Given the description of an element on the screen output the (x, y) to click on. 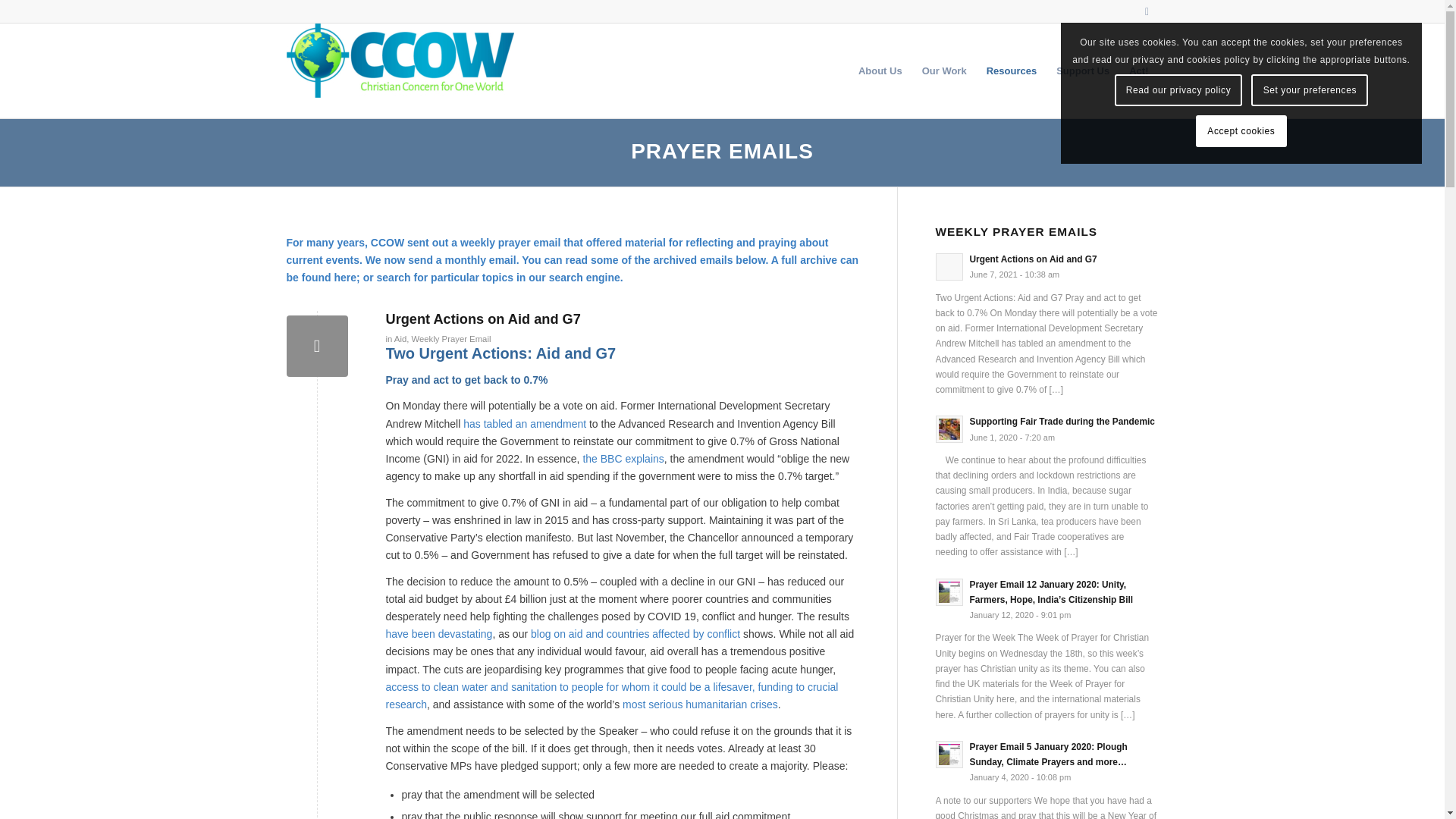
most serious humanitarian crises (700, 704)
Read: Supporting Fair Trade during the Pandemic (1061, 421)
Read: Urgent Actions on Aid and G7 (949, 266)
here (344, 277)
have been devastating (438, 633)
Read: Urgent Actions on Aid and G7 (1032, 258)
Urgent Actions on Aid and G7 (482, 319)
funding to crucial research (611, 695)
blog on aid and countries affected by conflict (635, 633)
